Given the description of an element on the screen output the (x, y) to click on. 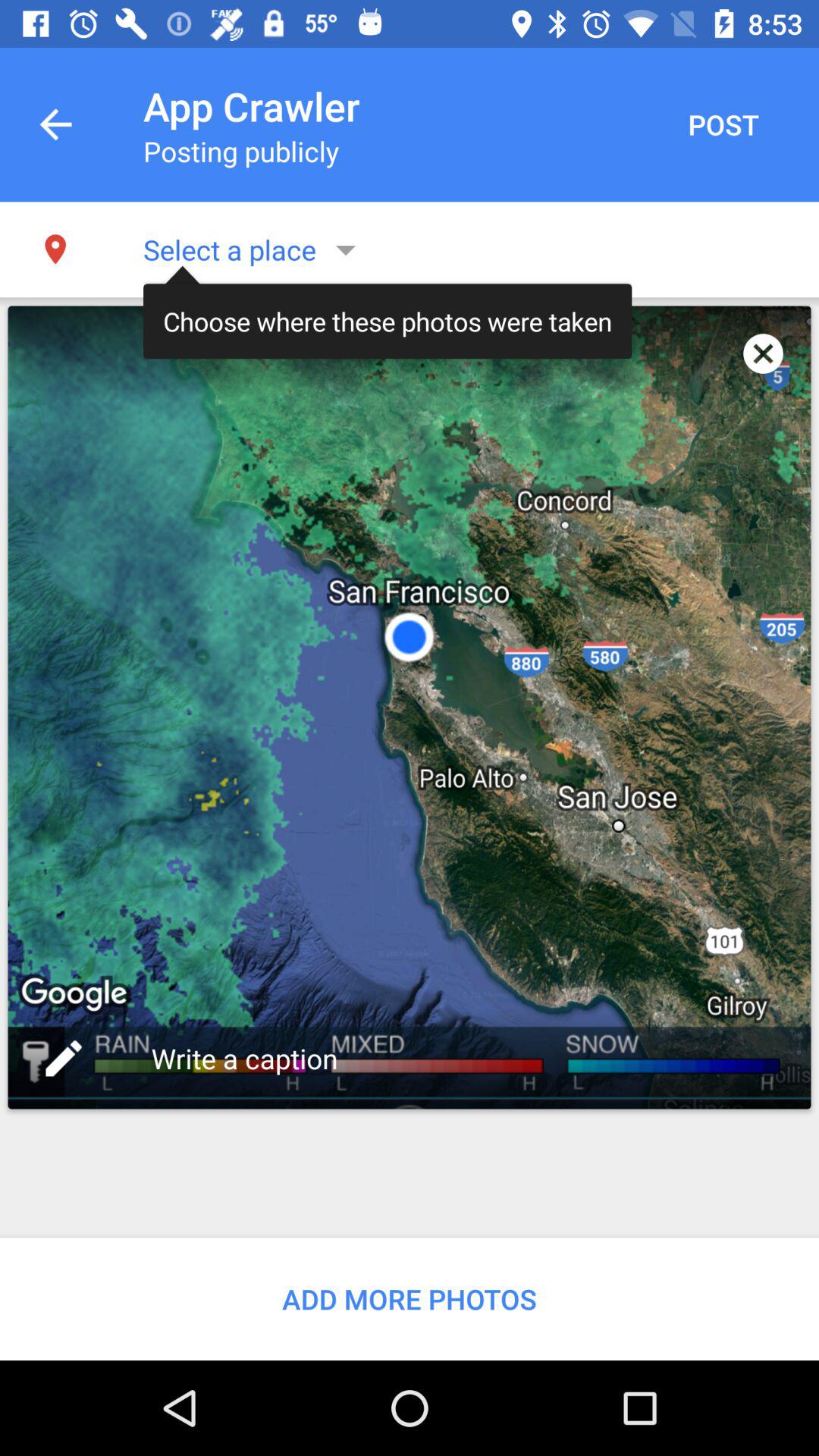
turn on item next to app crawler (55, 124)
